Given the description of an element on the screen output the (x, y) to click on. 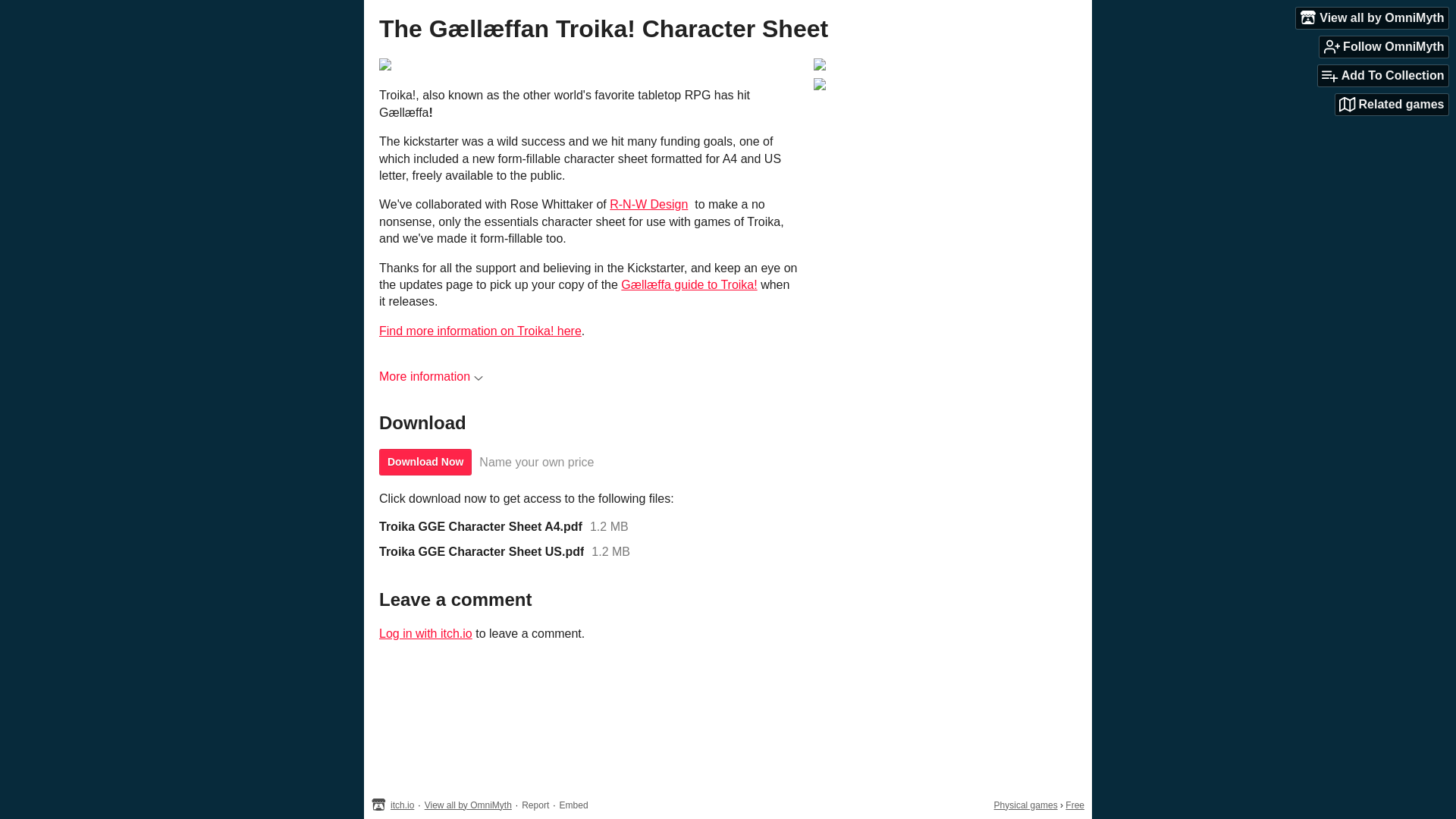
Add To Collection (1382, 75)
Find more information on Troika! here (479, 330)
Embed (573, 804)
More information (430, 376)
Free (1074, 804)
View all by OmniMyth (1371, 17)
Download Now (424, 461)
itch.io (401, 804)
Physical games (1026, 804)
Troika GGE Character Sheet A4.pdf (480, 526)
